Given the description of an element on the screen output the (x, y) to click on. 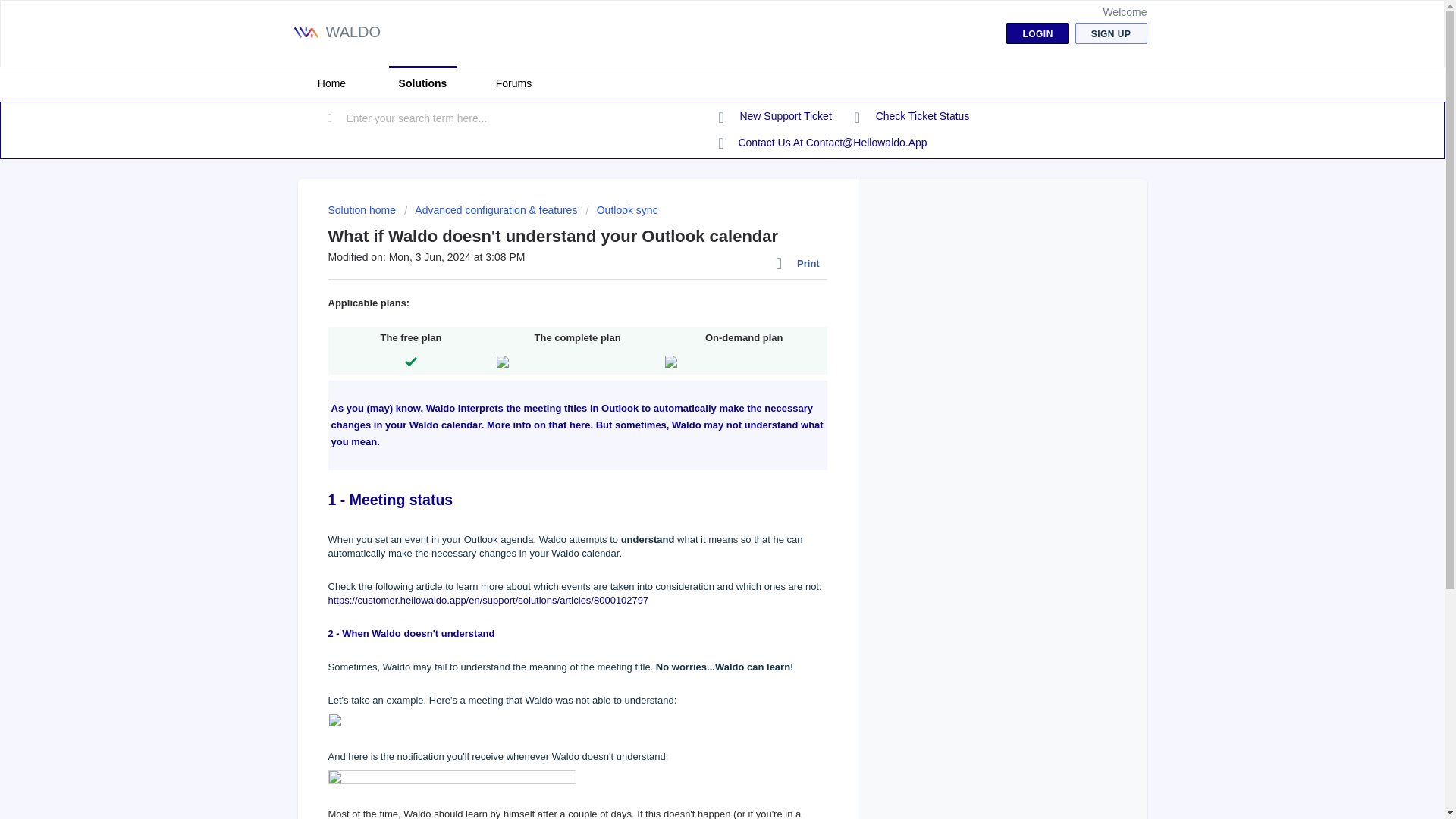
SIGN UP (1111, 33)
Solution home (362, 209)
Print (801, 263)
Solutions (422, 83)
Check ticket status (911, 116)
LOGIN (1037, 33)
here (579, 424)
Forums (513, 83)
Home (331, 83)
New Support Ticket (775, 116)
